Given the description of an element on the screen output the (x, y) to click on. 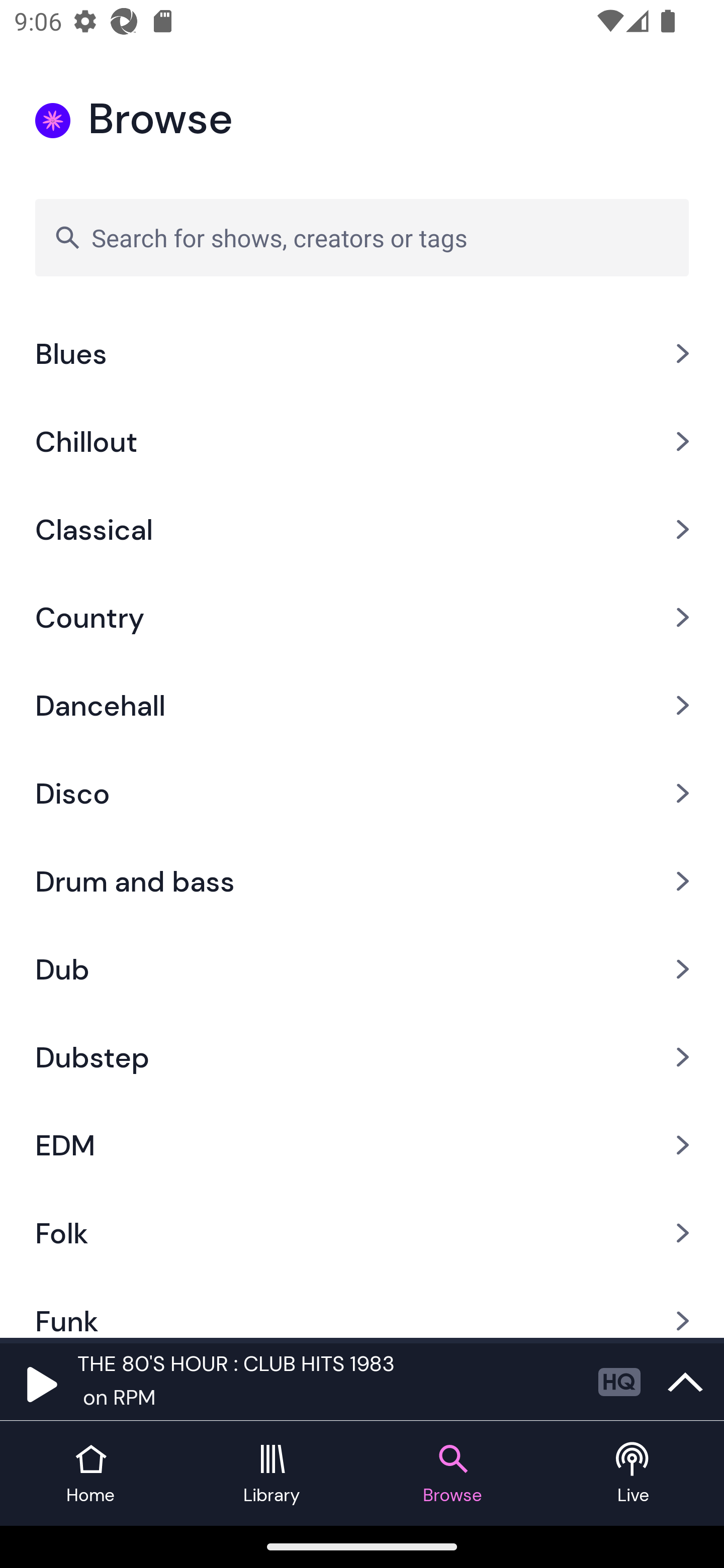
Search for shows, creators or tags (361, 237)
Blues (361, 353)
Chillout (361, 442)
Classical (361, 529)
Country (361, 617)
Dancehall (361, 705)
Disco (361, 793)
Drum and bass (361, 881)
Dub (361, 968)
Dubstep (361, 1056)
EDM (361, 1144)
Folk (361, 1232)
Funk (361, 1306)
Home tab Home (90, 1473)
Library tab Library (271, 1473)
Browse tab Browse (452, 1473)
Live tab Live (633, 1473)
